Given the description of an element on the screen output the (x, y) to click on. 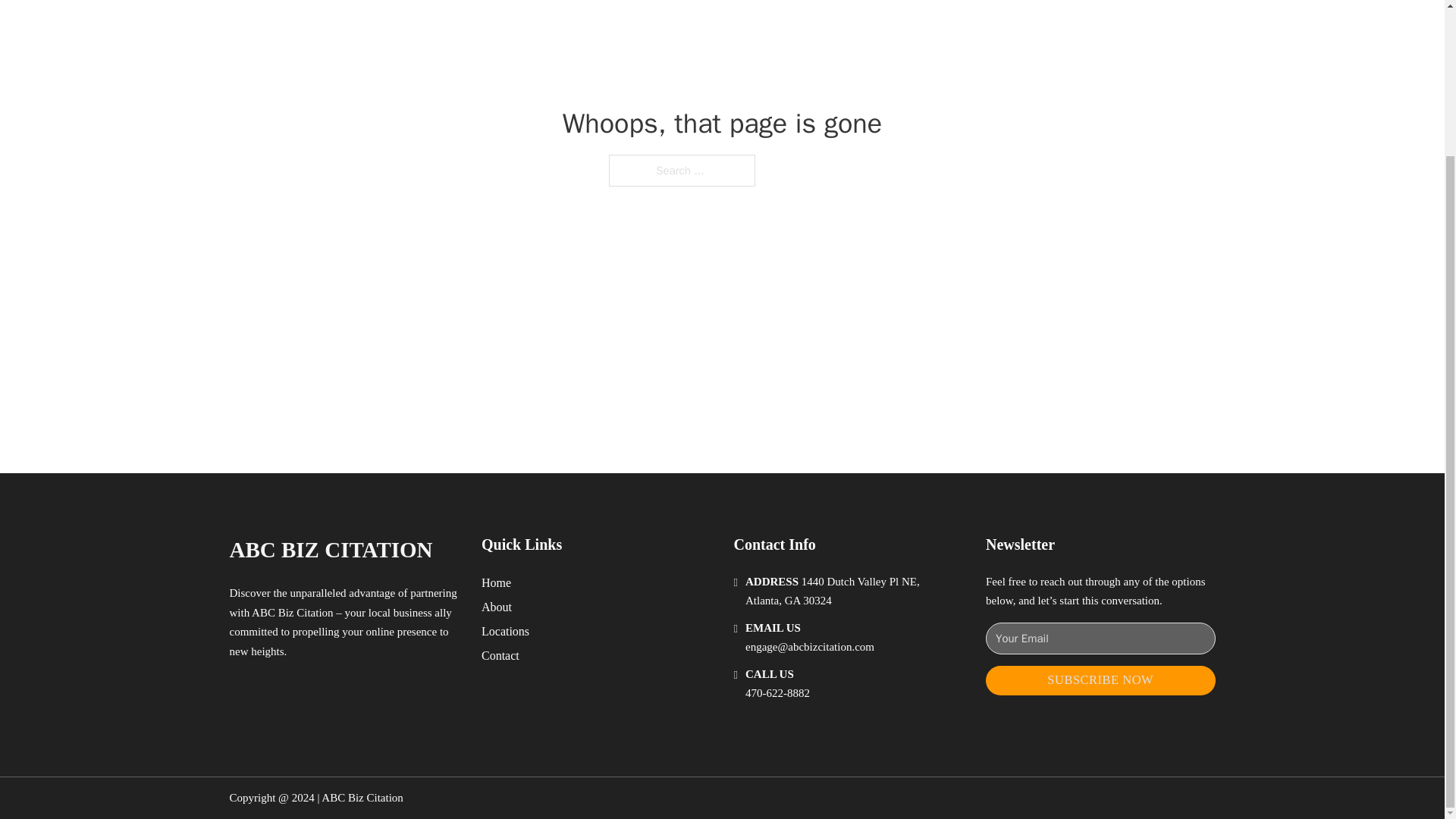
Contact (500, 655)
About (496, 607)
470-622-8882 (777, 693)
Locations (505, 630)
SUBSCRIBE NOW (1100, 680)
ABC BIZ CITATION (330, 549)
Home (496, 582)
